Given the description of an element on the screen output the (x, y) to click on. 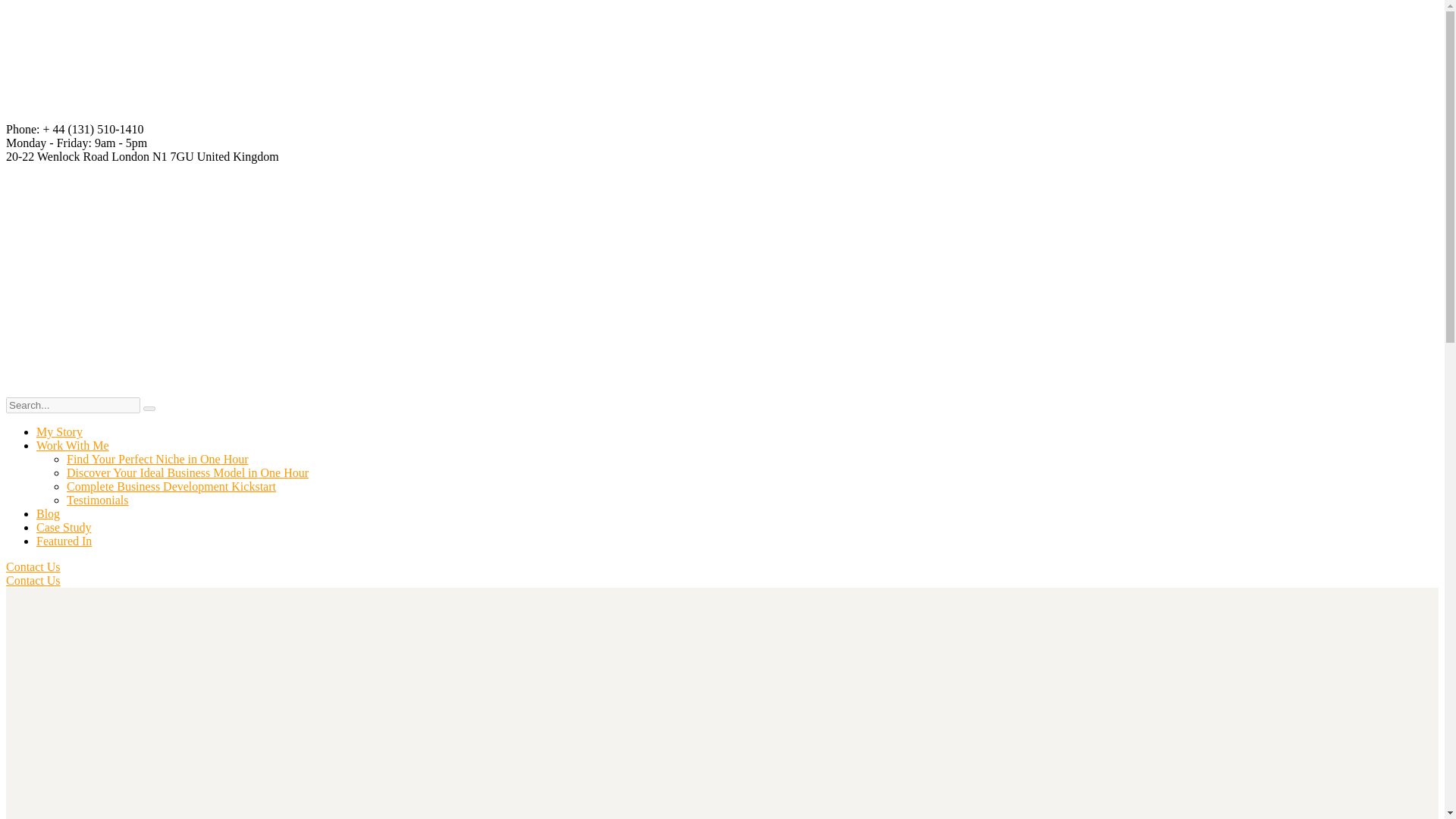
Contact Us (33, 566)
Discover Your Ideal Business Model in One Hour (187, 472)
Miha Matlievski - Fail Coach (574, 273)
Featured In (63, 540)
Miha Matlievski - Fail Coach (574, 115)
Miha Matlievski - Fail Coach (346, 273)
Miha Matlievski - Fail Coach (118, 273)
Complete Business Development Kickstart (171, 486)
Miha Matlievski - Fail Coach (346, 115)
My Story (59, 431)
Case Study (63, 526)
Miha Matlievski - Fail Coach (118, 115)
Find Your Perfect Niche in One Hour (157, 459)
Blog (47, 513)
Testimonials (97, 499)
